Given the description of an element on the screen output the (x, y) to click on. 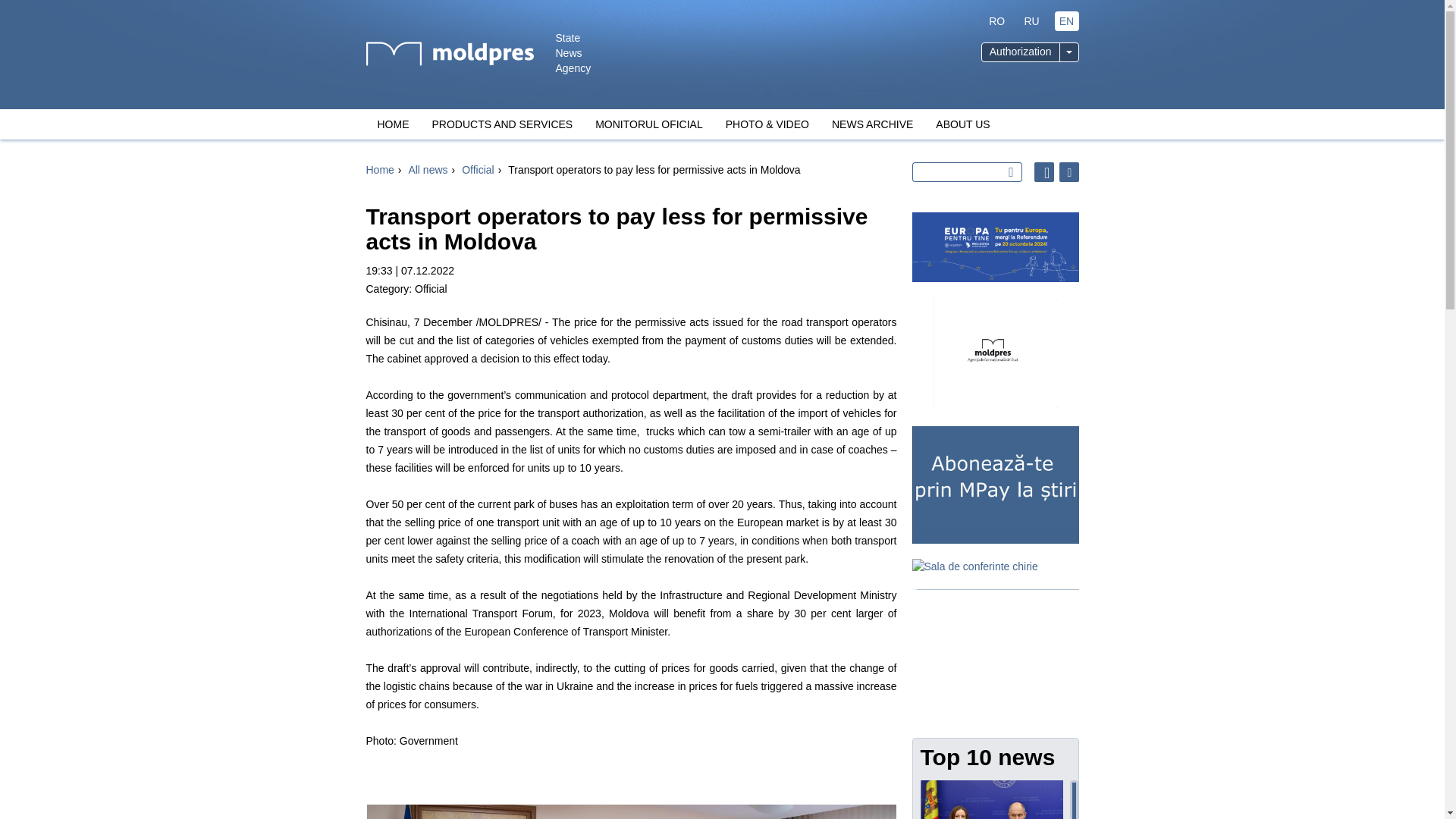
Authorization (1020, 52)
Toogle Dropdown (1068, 52)
EN (1066, 21)
MONITORUL OFICIAL (648, 123)
RU (1031, 21)
HOME (392, 123)
NEWS ARCHIVE (872, 123)
PRODUCTS AND SERVICES (501, 123)
RO (997, 21)
ABOUT US (962, 123)
